Given the description of an element on the screen output the (x, y) to click on. 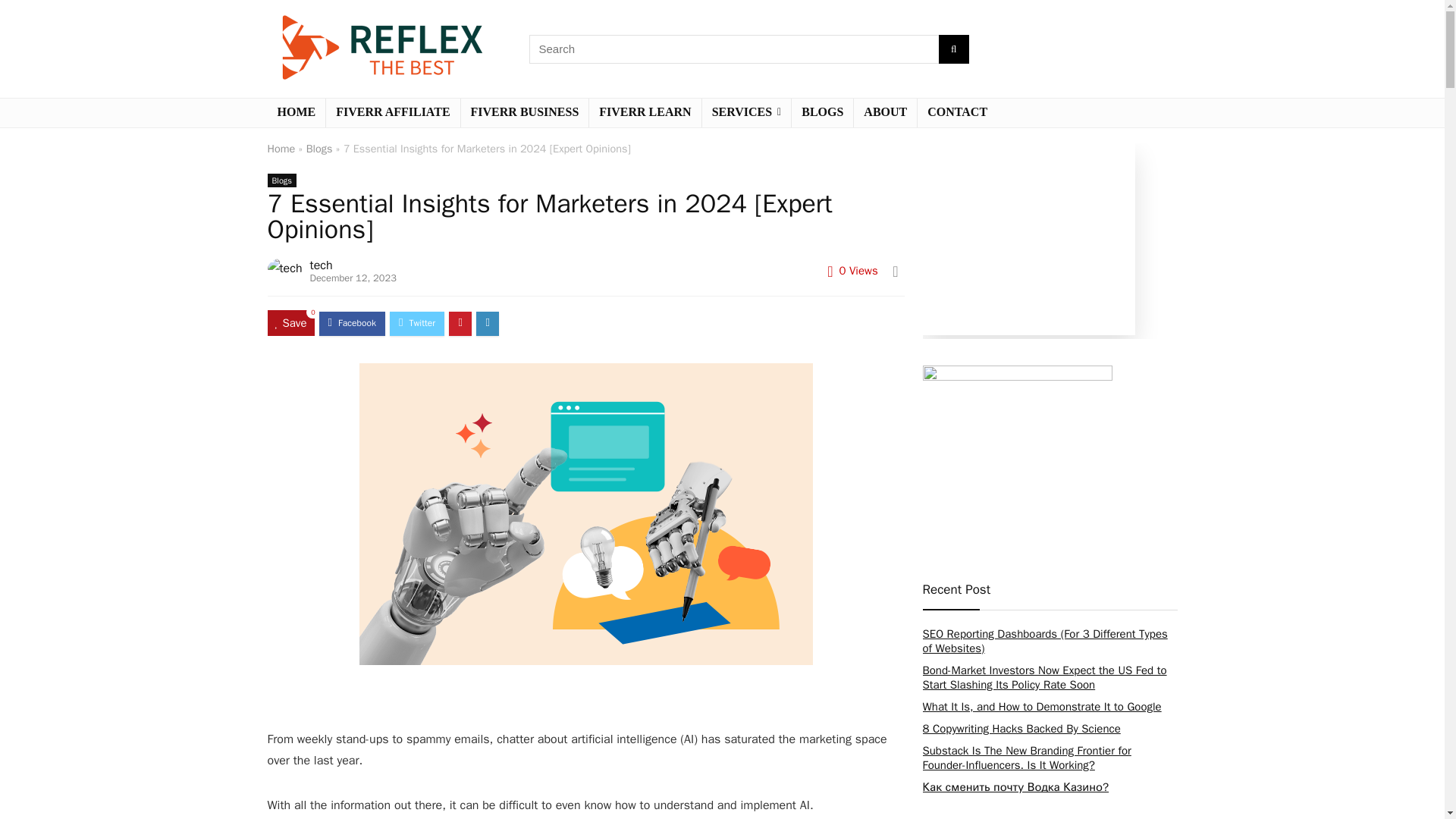
SERVICES (746, 112)
Home (280, 148)
ABOUT (885, 112)
FIVERR BUSINESS (525, 112)
HOME (295, 112)
View all posts in Blogs (281, 180)
tech (321, 264)
BLOGS (822, 112)
FIVERR LEARN (644, 112)
FIVERR AFFILIATE (393, 112)
CONTACT (957, 112)
Blogs (281, 180)
Blogs (319, 148)
